Given the description of an element on the screen output the (x, y) to click on. 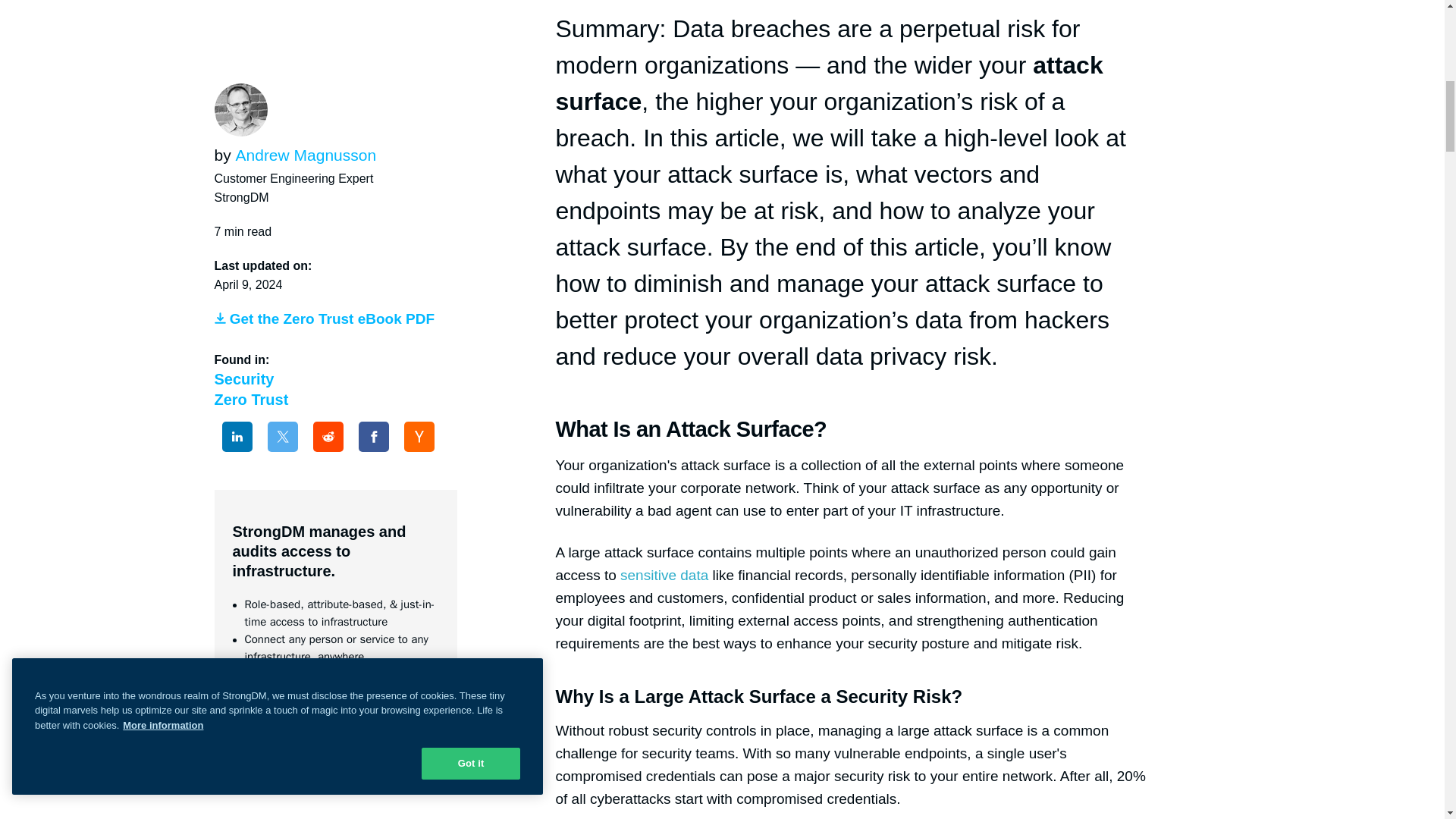
Share on Reddit (327, 6)
